Given the description of an element on the screen output the (x, y) to click on. 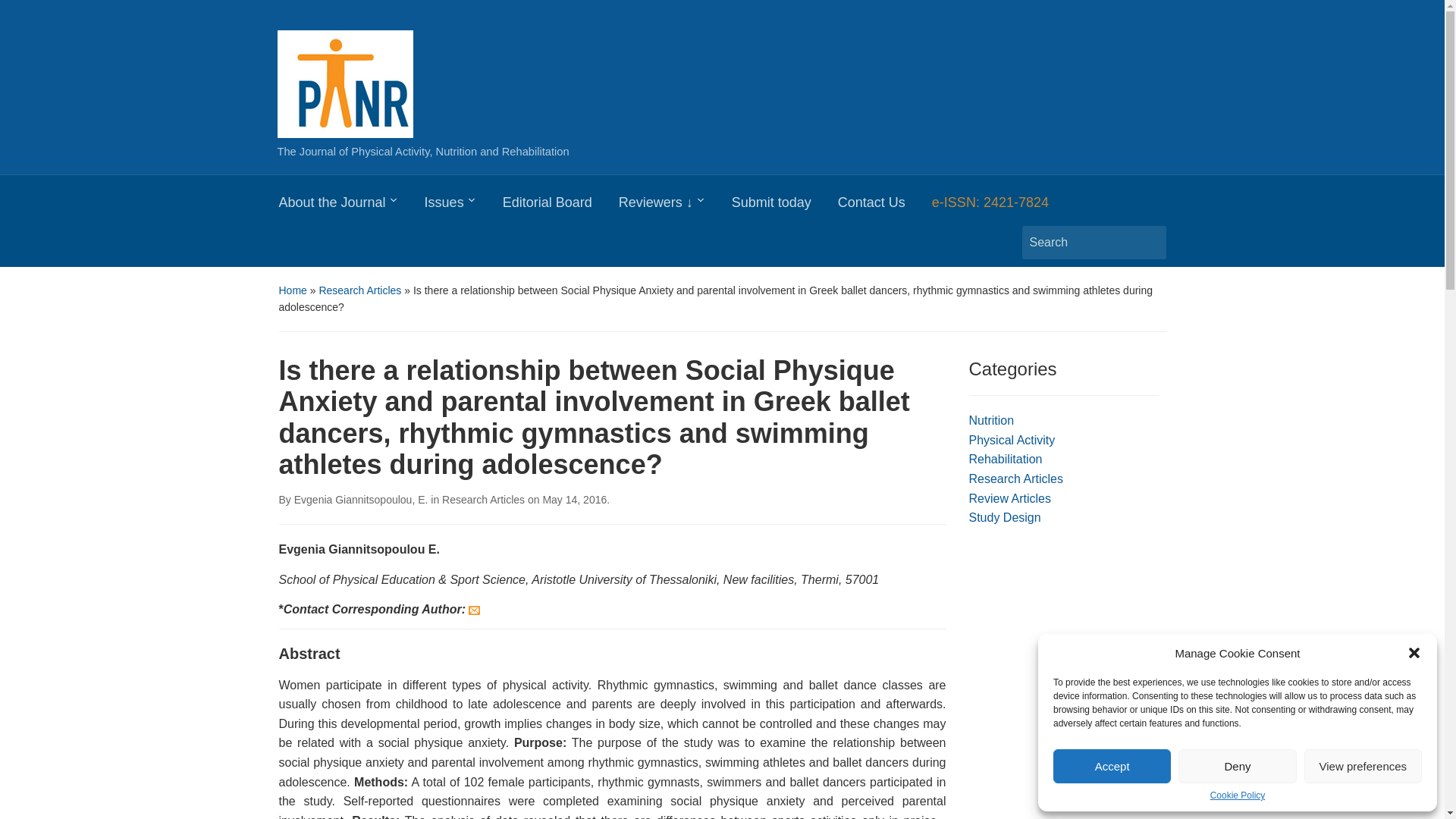
About the Journal (352, 206)
Submit today (785, 206)
10:42 pm (574, 499)
Deny (1236, 765)
Editorial Board (560, 206)
Contact Us (884, 206)
Cookie Policy (1237, 795)
e-ISSN: 2421-7824 (1003, 206)
View all posts by Evgenia Giannitsopoulou, E. (361, 499)
Accept (1111, 765)
Issues (463, 206)
View preferences (1363, 765)
